Given the description of an element on the screen output the (x, y) to click on. 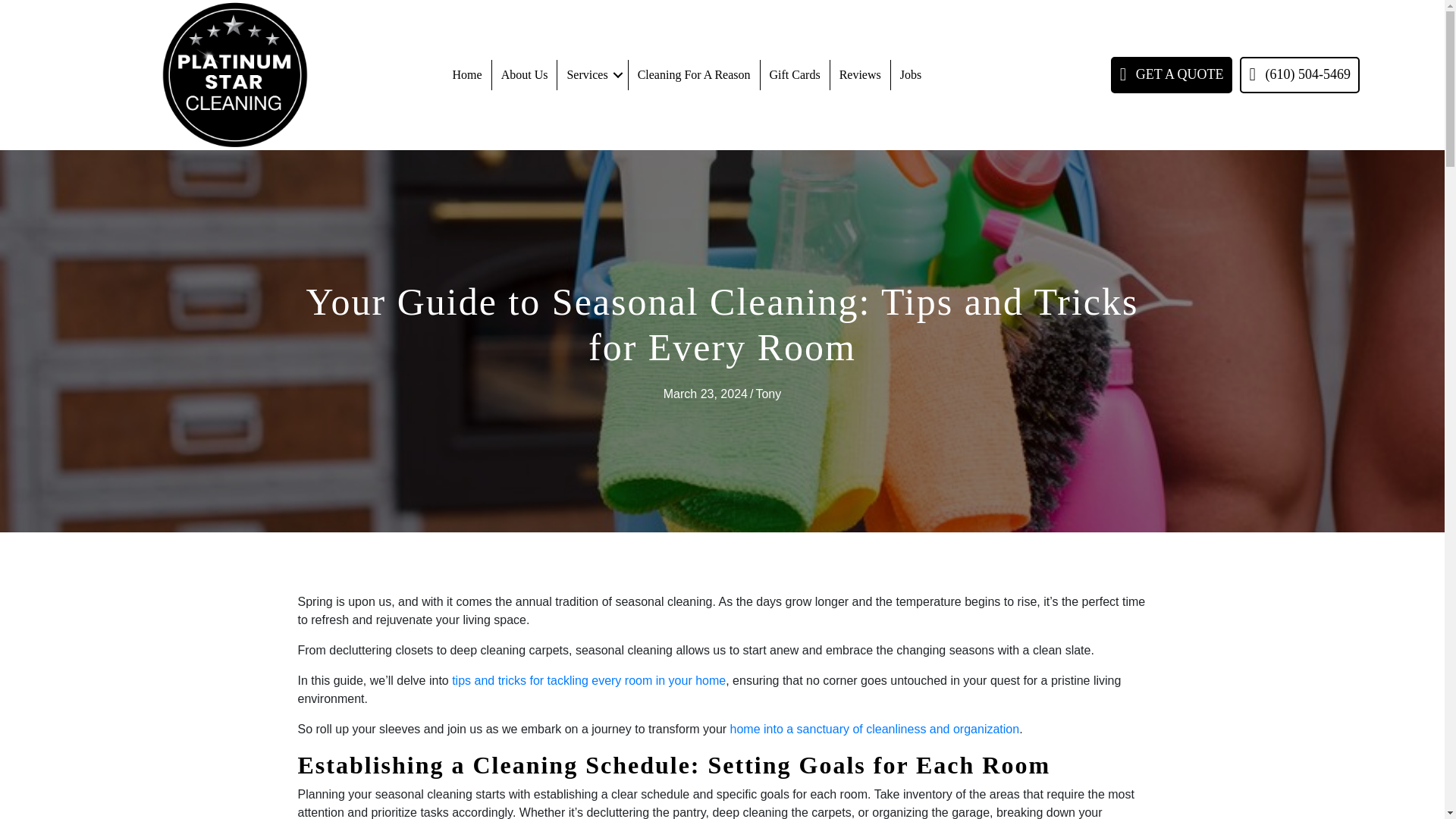
tips and tricks for tackling every room in your home (588, 680)
GET A QUOTE (1171, 74)
About Platnum Star Services (524, 74)
Tony (767, 393)
Reviews (859, 74)
home into a sanctuary of cleanliness and organization (875, 728)
Services (592, 74)
Home (468, 74)
Jobs (910, 74)
Jobs (910, 74)
